Given the description of an element on the screen output the (x, y) to click on. 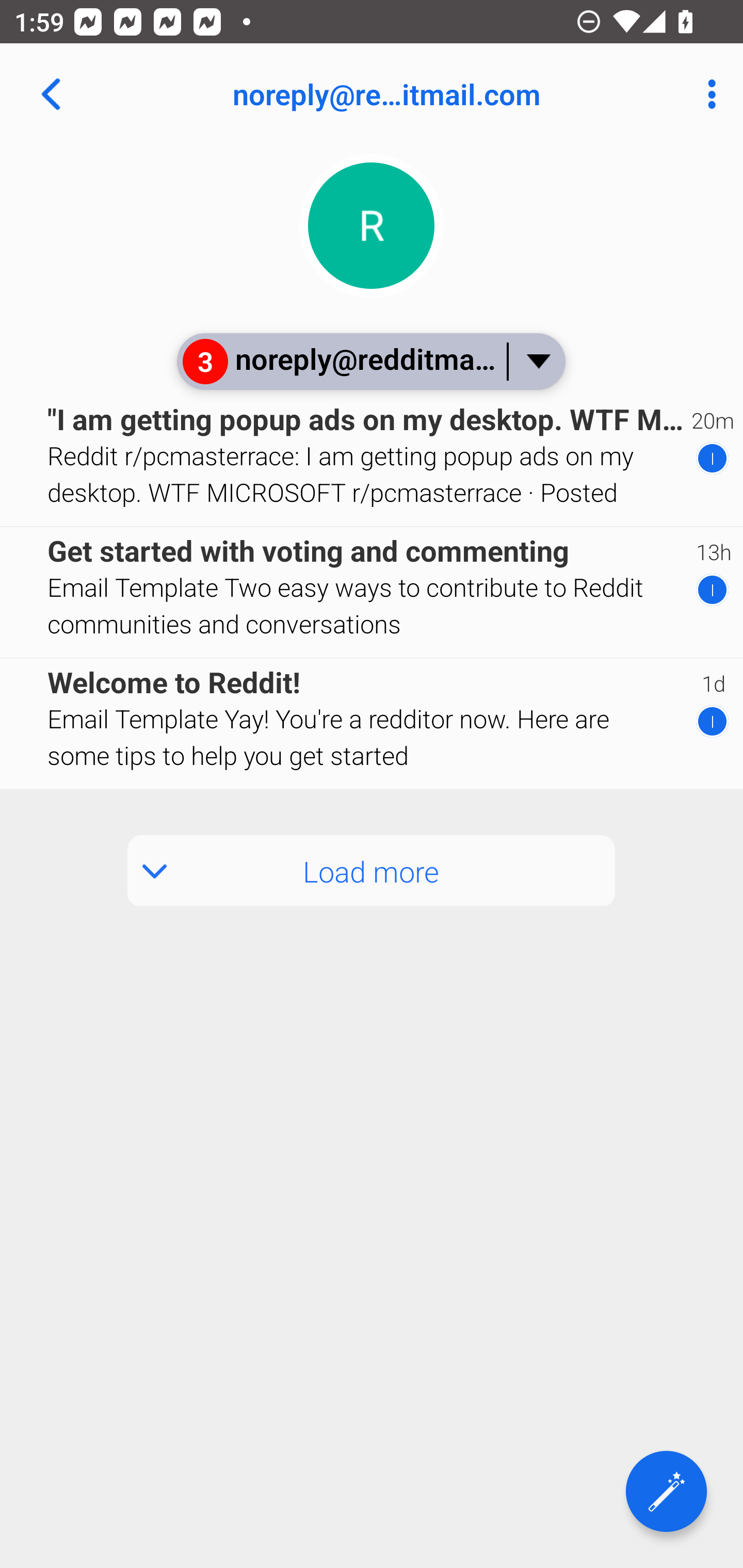
Navigate up (50, 93)
noreply@redditmail.com (436, 93)
More Options (706, 93)
3 noreply@redditmail.com & You (370, 361)
Load more (371, 870)
